Given the description of an element on the screen output the (x, y) to click on. 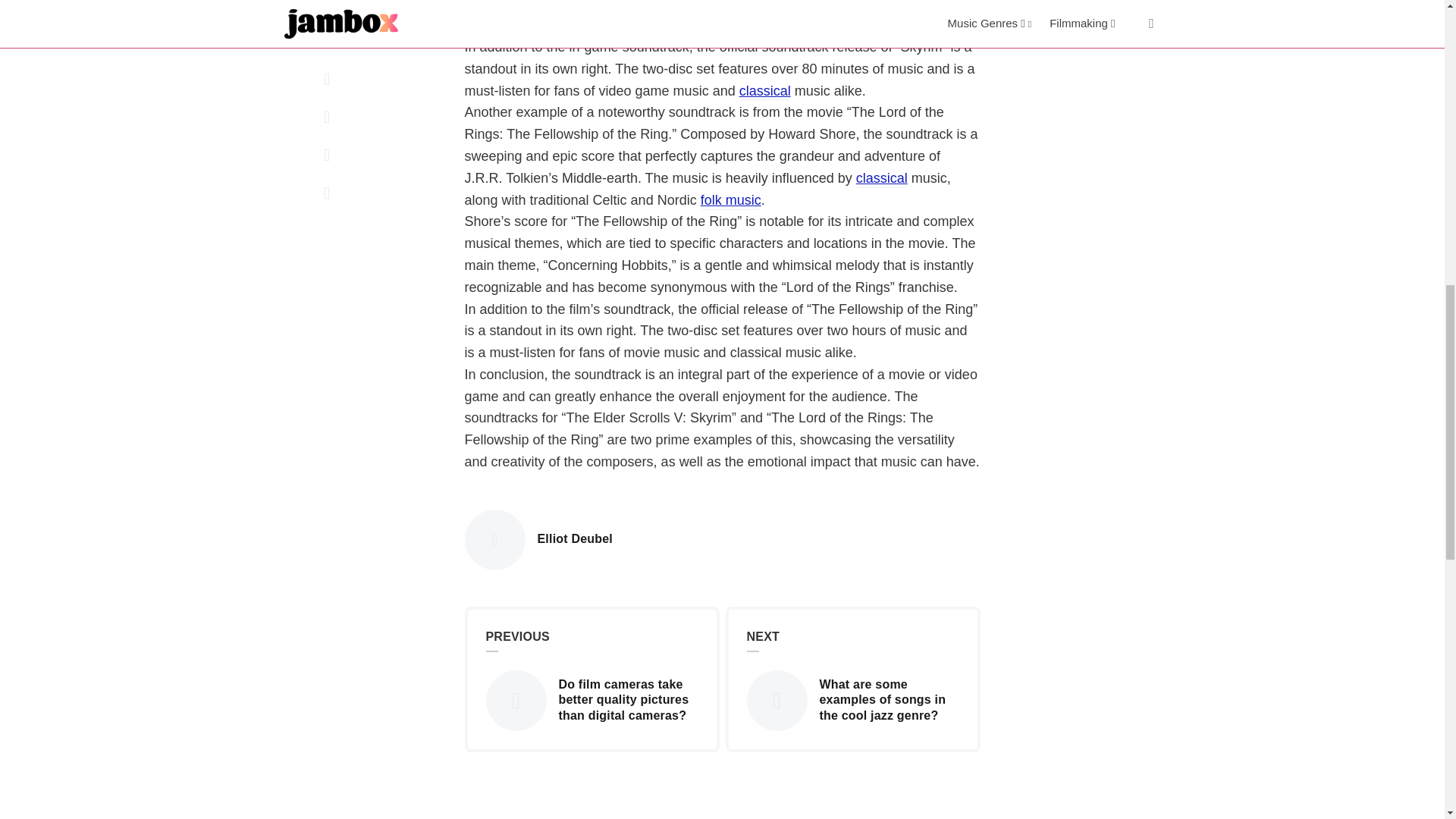
4540 what are some examples of songs in the cool jazz genre (574, 539)
classical (774, 699)
classical (764, 91)
folk music (881, 179)
What are some examples of songs in the cool jazz genre? (730, 200)
